Given the description of an element on the screen output the (x, y) to click on. 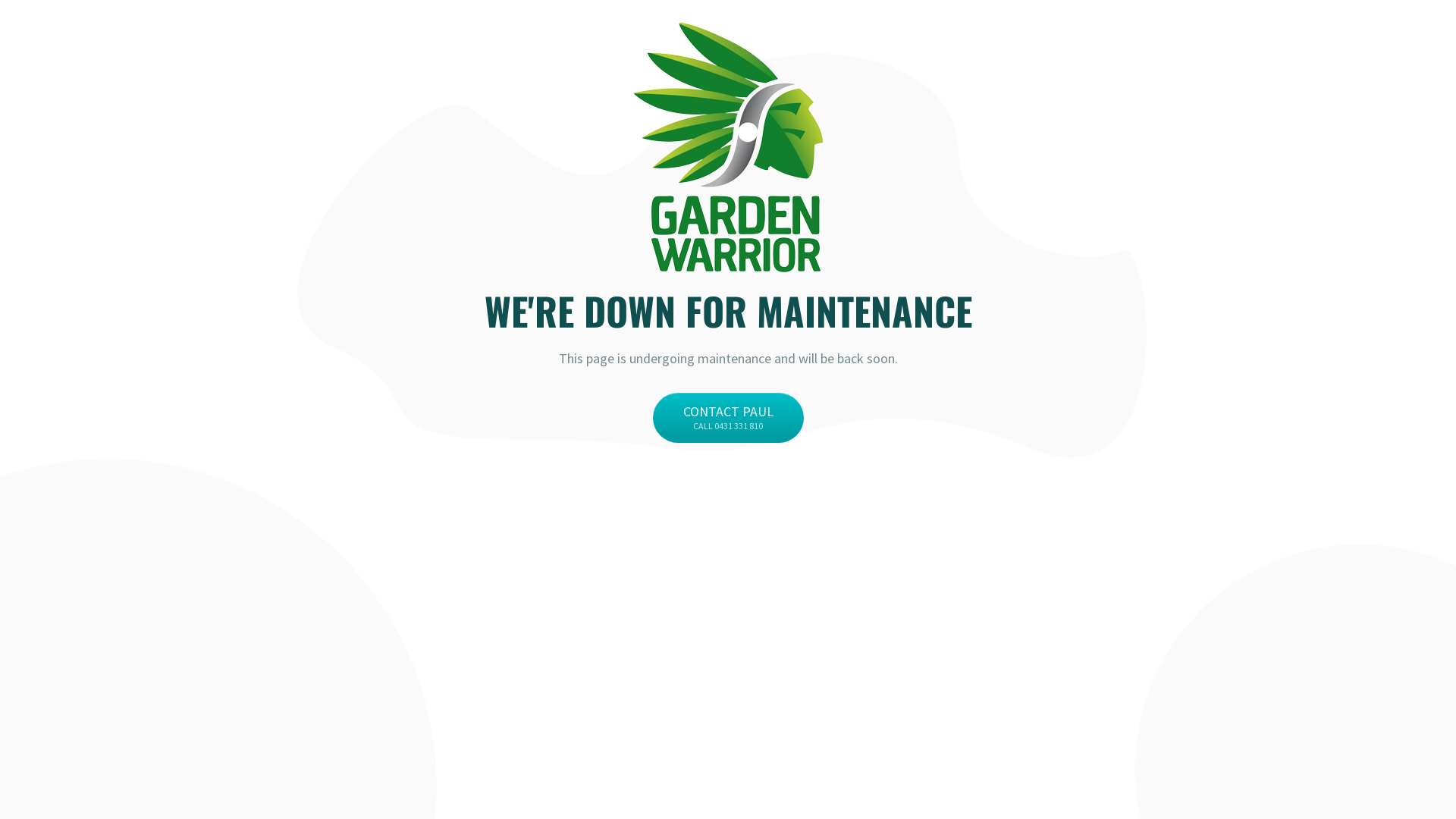
CONTACT PAUL
CALL 0431 331 810 Element type: text (727, 417)
